Given the description of an element on the screen output the (x, y) to click on. 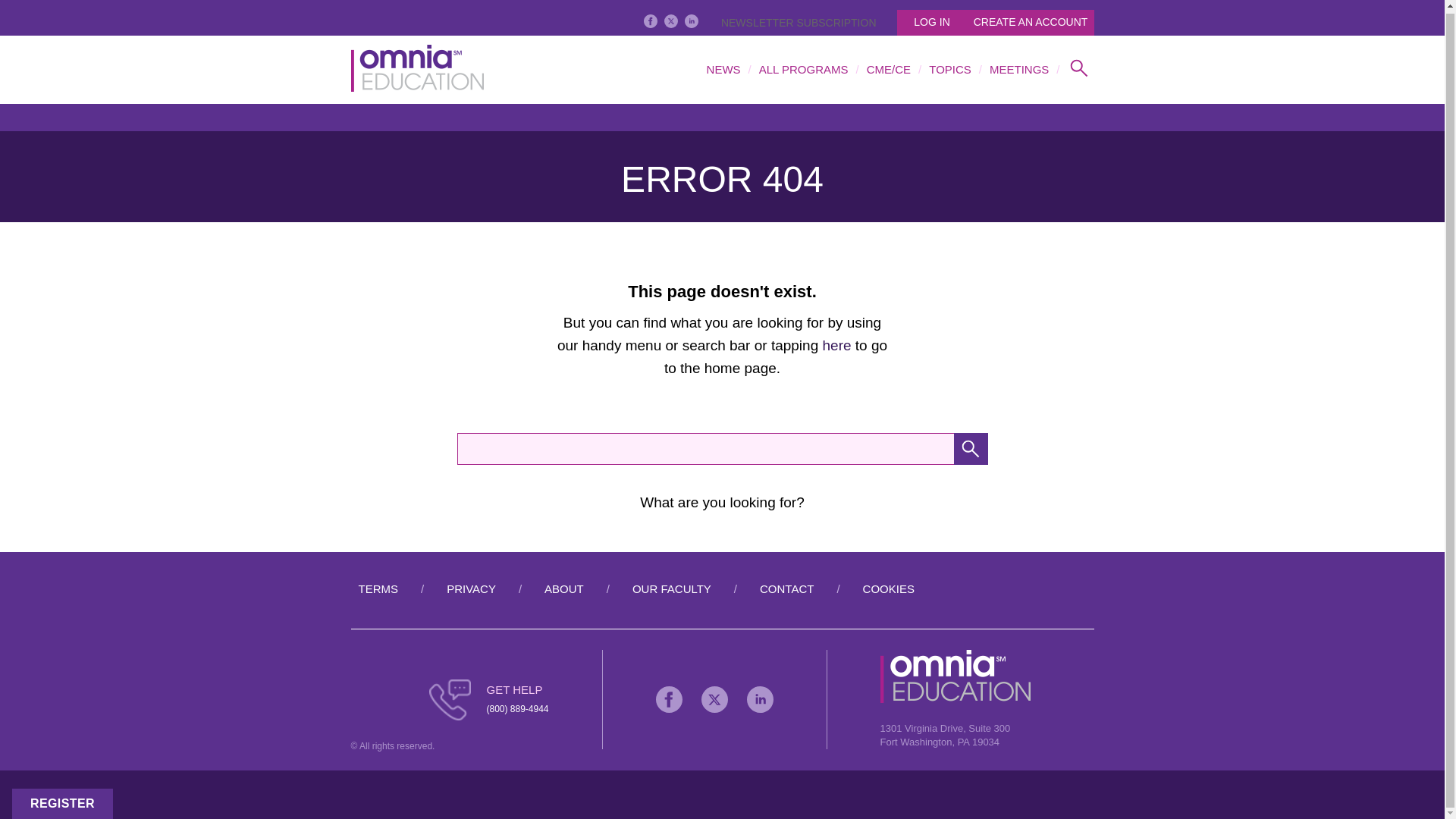
Twitter (714, 699)
Omnia Education (955, 699)
Twitter (670, 20)
NEWSLETTER SUBSCRIPTION (794, 22)
LinkedIn (691, 20)
Omnia Education (416, 70)
NEWS (723, 69)
CREATE AN ACCOUNT (1026, 22)
LOG IN (927, 22)
TOPICS (949, 69)
LinkedIn (759, 699)
Omnia Education (955, 676)
ALL PROGRAMS (803, 69)
Phone icon (449, 699)
